Given the description of an element on the screen output the (x, y) to click on. 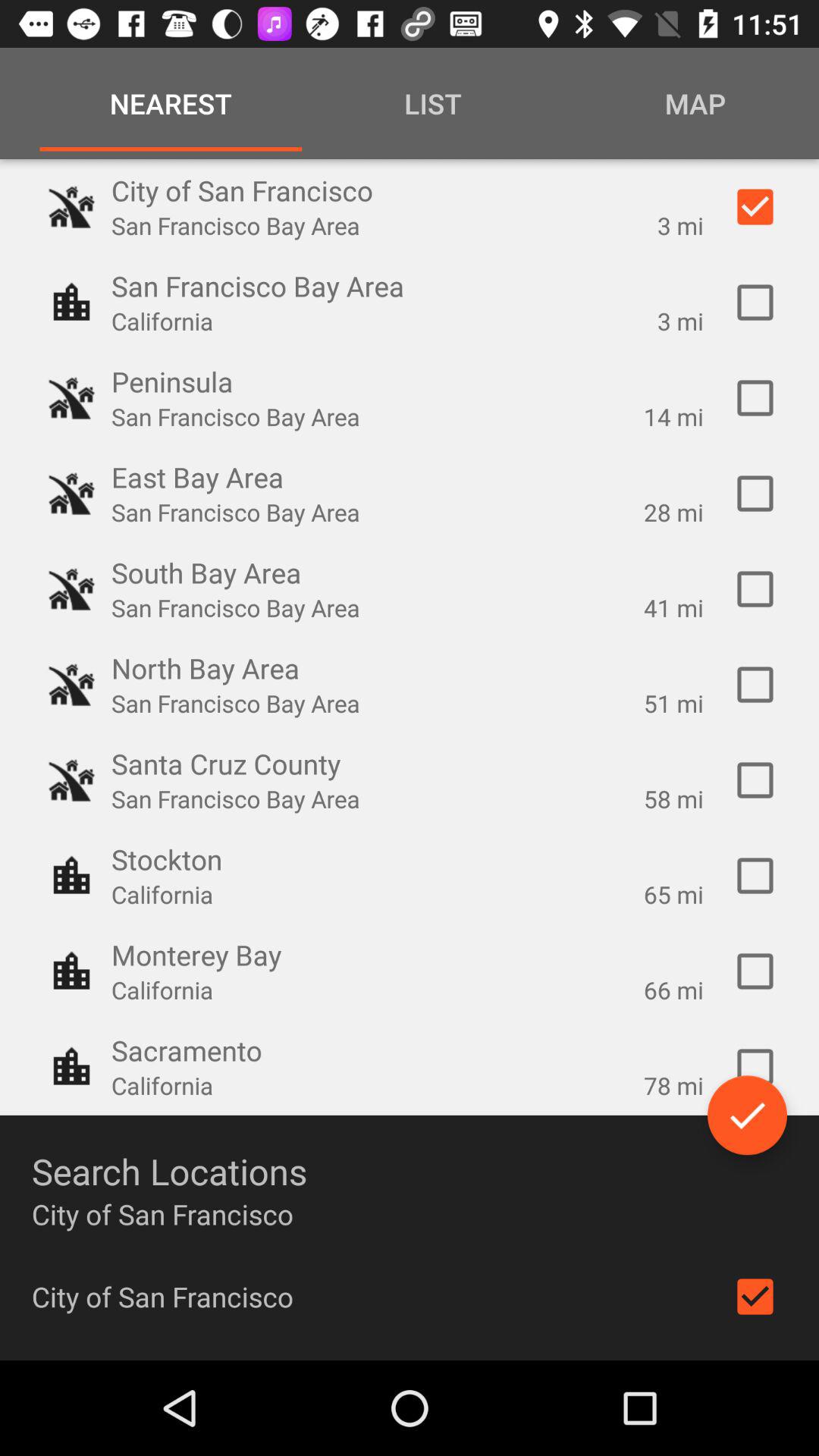
route to monterey bay 66 miles ahead (755, 971)
